Given the description of an element on the screen output the (x, y) to click on. 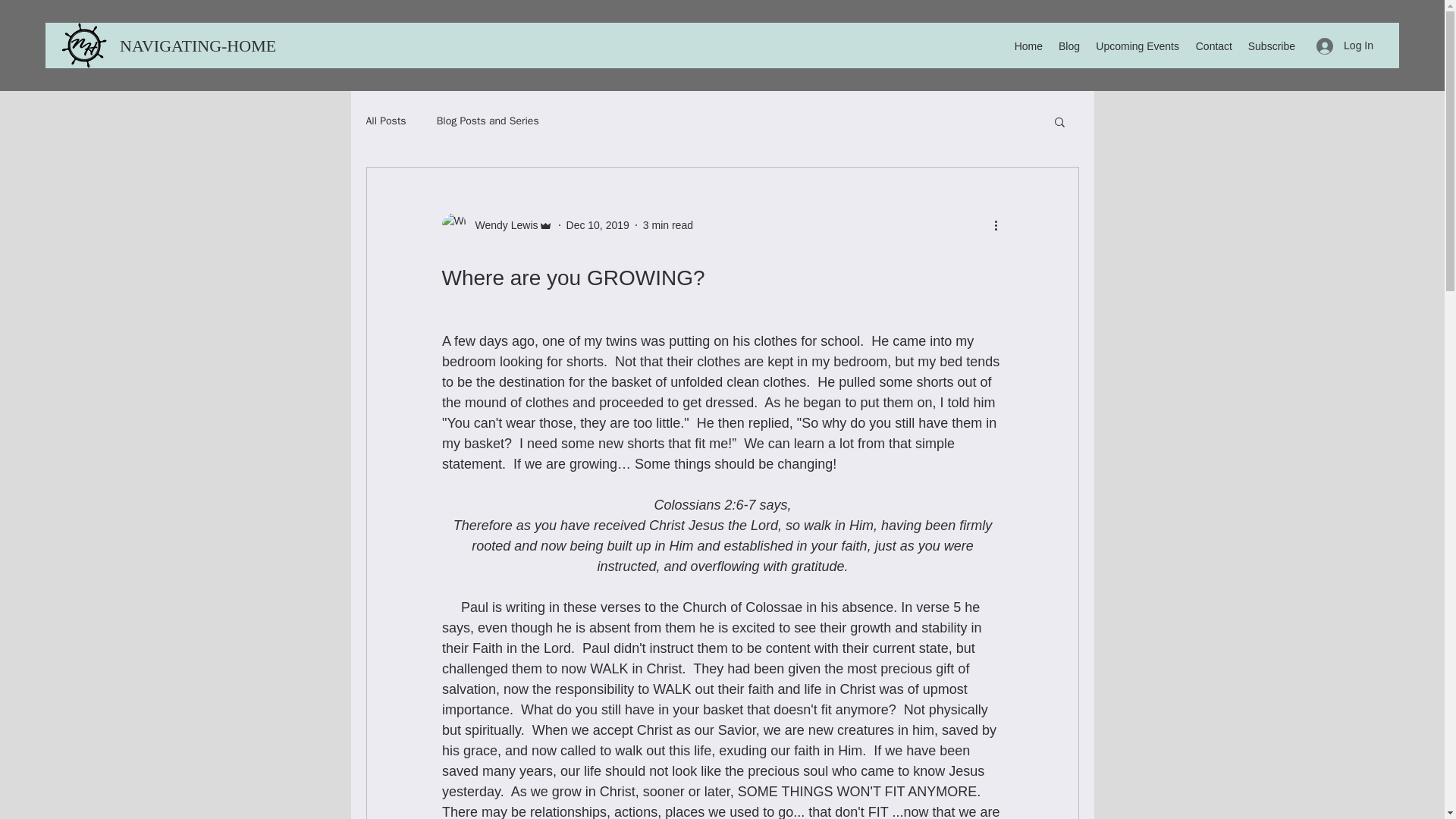
All Posts (385, 120)
Home (1027, 46)
Log In (1345, 45)
Blog Posts and Series (487, 120)
Wendy Lewis (496, 224)
Wendy Lewis (501, 224)
Blog (1068, 46)
Upcoming Events (1136, 46)
Subscribe (1271, 46)
3 min read (668, 224)
